Given the description of an element on the screen output the (x, y) to click on. 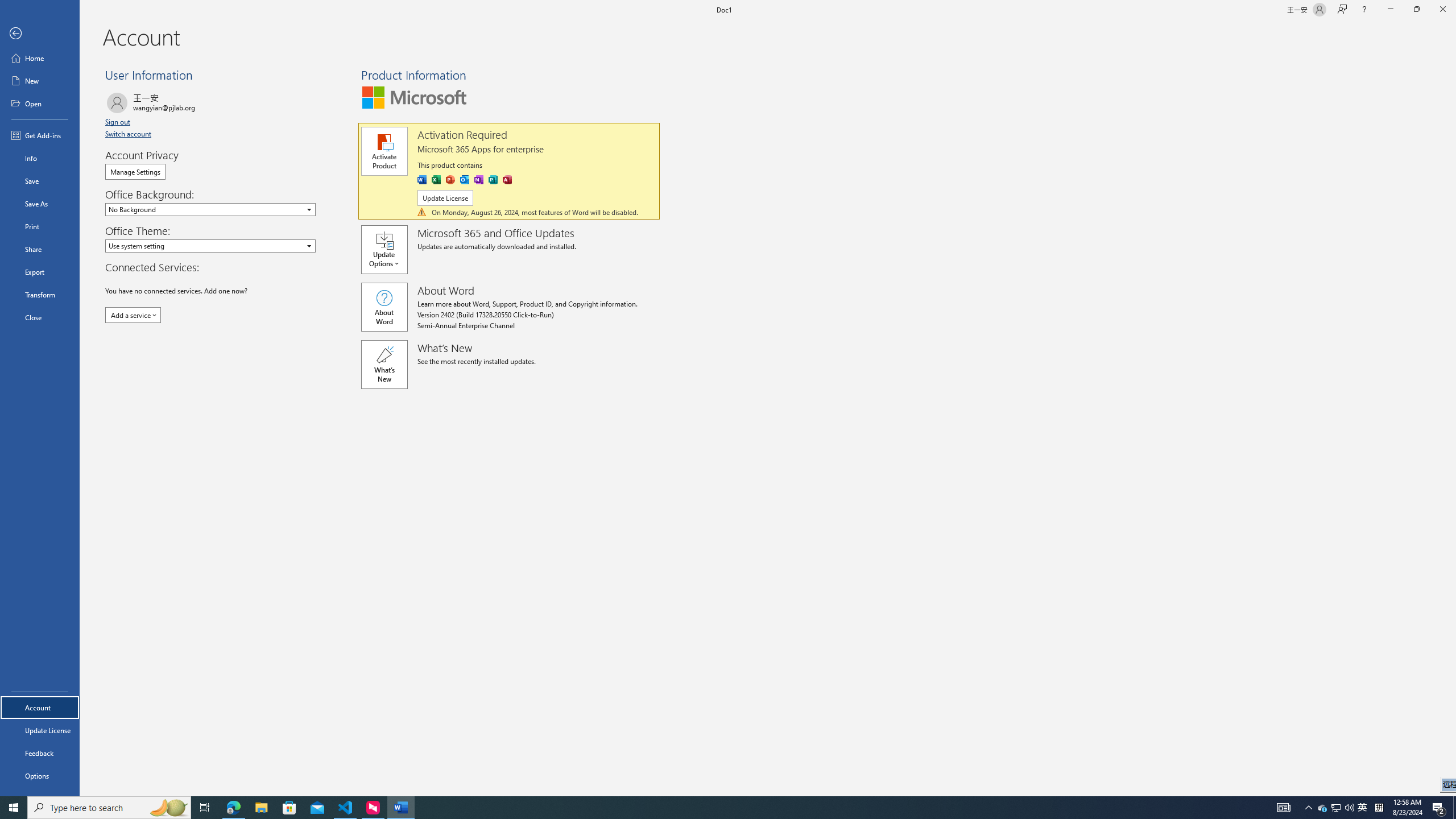
OneNote (478, 179)
Word (421, 179)
Outlook (464, 179)
Office Theme (209, 245)
Office Background (209, 209)
Excel (435, 179)
Print (40, 225)
